Given the description of an element on the screen output the (x, y) to click on. 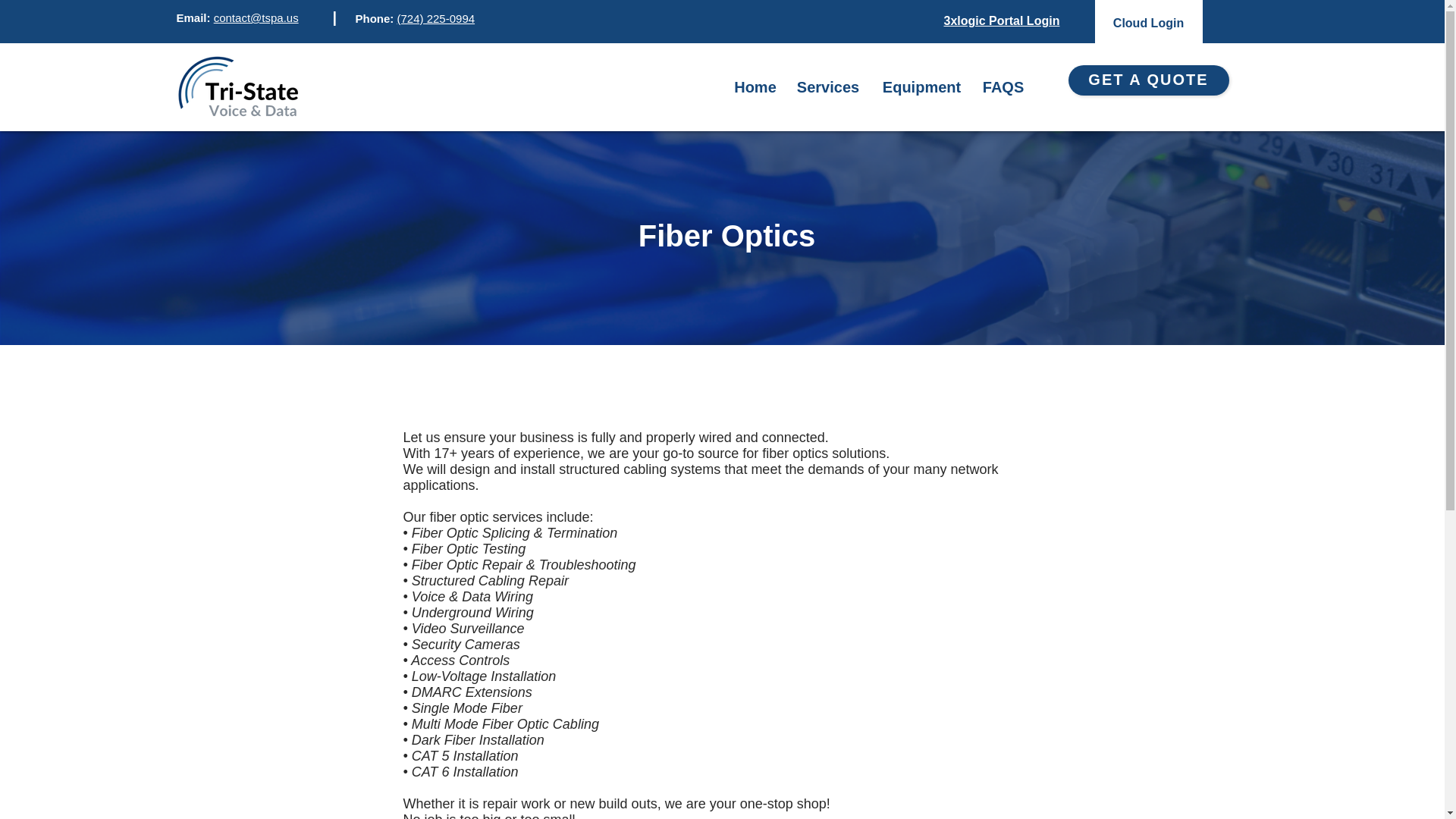
Services (828, 87)
Cloud Login (1148, 23)
GET A QUOTE (1147, 80)
Email:  (194, 17)
Phone:  (375, 18)
Equipment (921, 87)
3xlogic Portal Login (1001, 20)
